Given the description of an element on the screen output the (x, y) to click on. 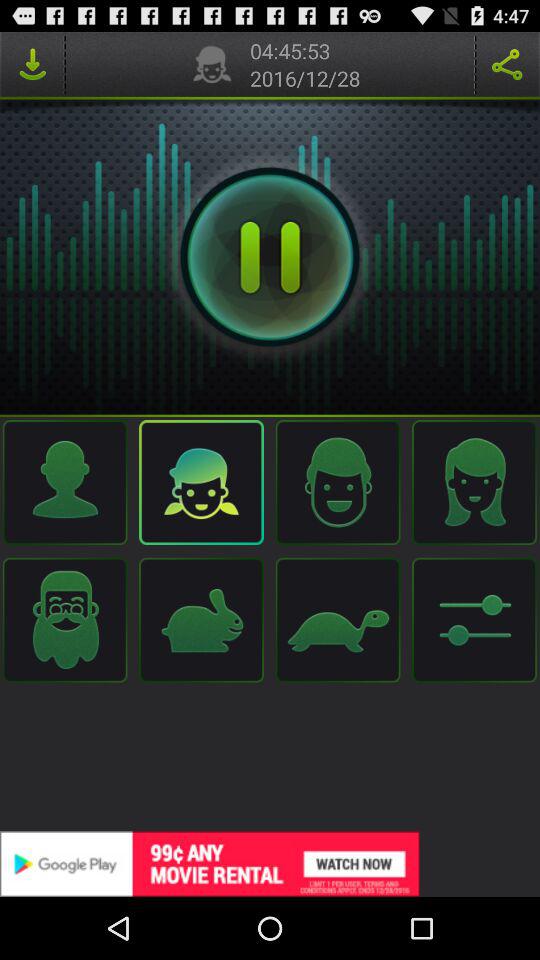
open advertisement (270, 864)
